Given the description of an element on the screen output the (x, y) to click on. 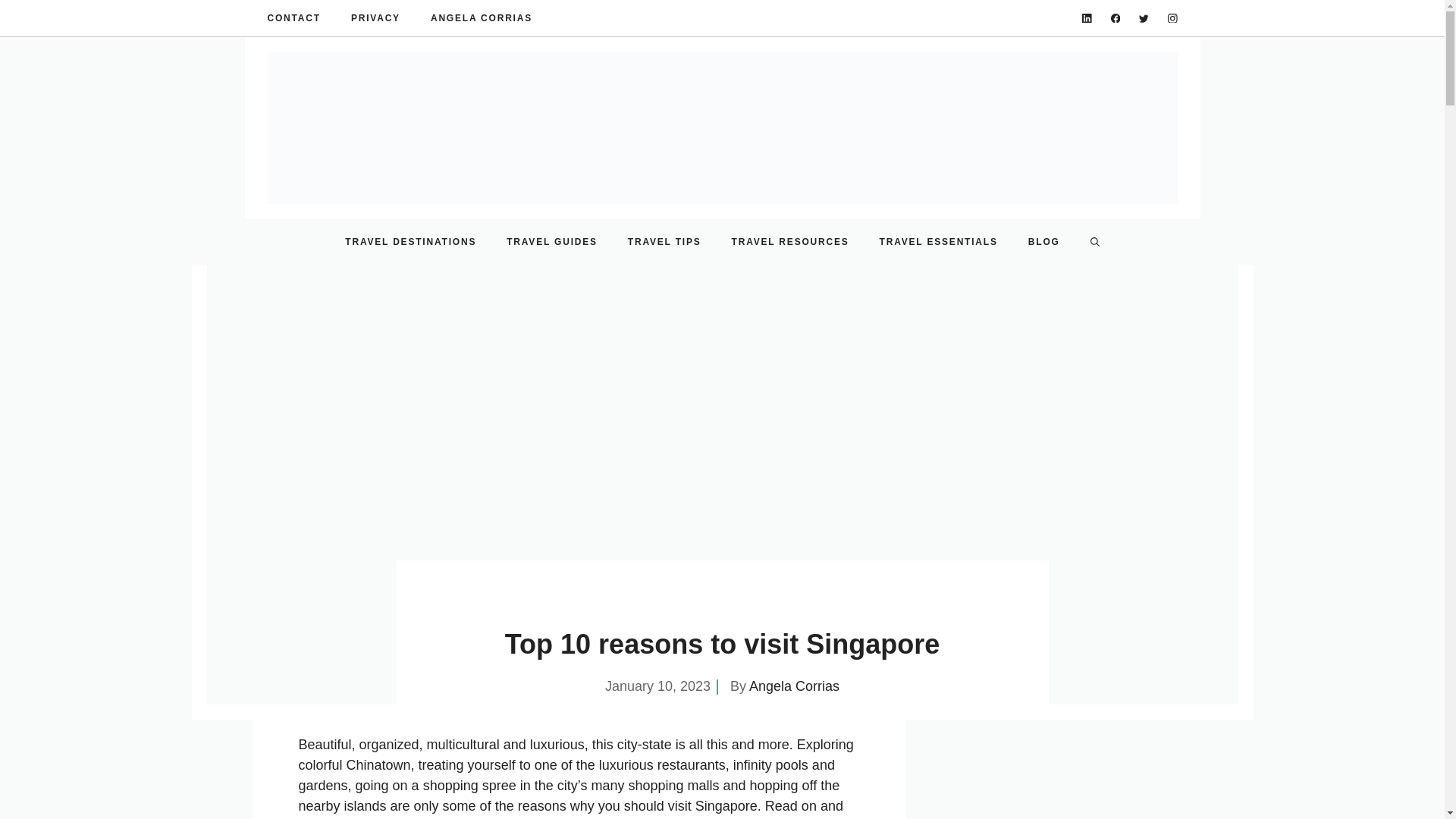
TRAVEL GUIDES (552, 241)
TRAVEL ESSENTIALS (938, 241)
BLOG (1044, 241)
TRAVEL DESTINATIONS (411, 241)
CONTACT (293, 18)
TRAVEL RESOURCES (790, 241)
PRIVACY (375, 18)
ANGELA CORRIAS (481, 18)
Angela Corrias (794, 685)
TRAVEL TIPS (664, 241)
